Given the description of an element on the screen output the (x, y) to click on. 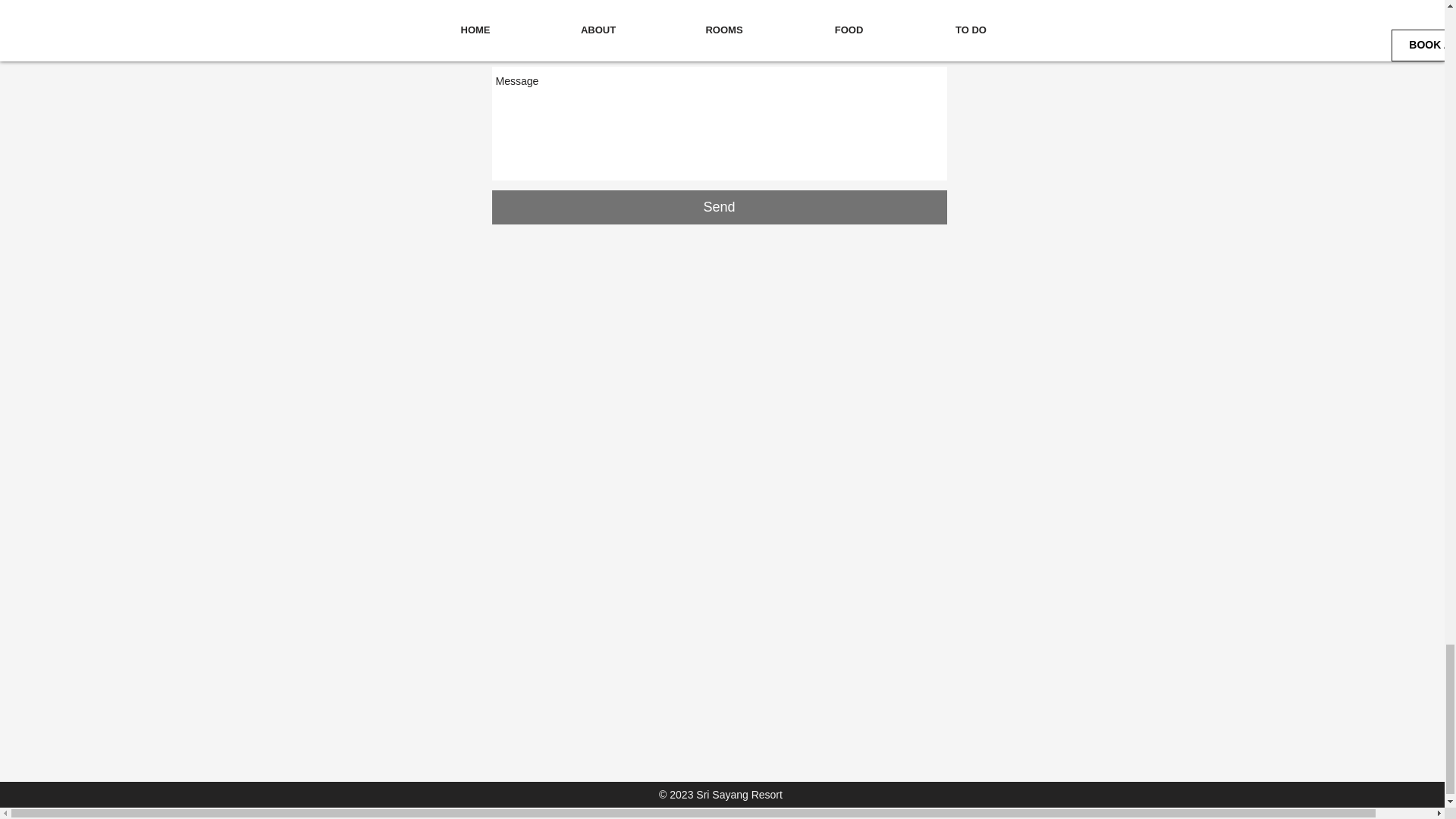
Send (719, 207)
